Given the description of an element on the screen output the (x, y) to click on. 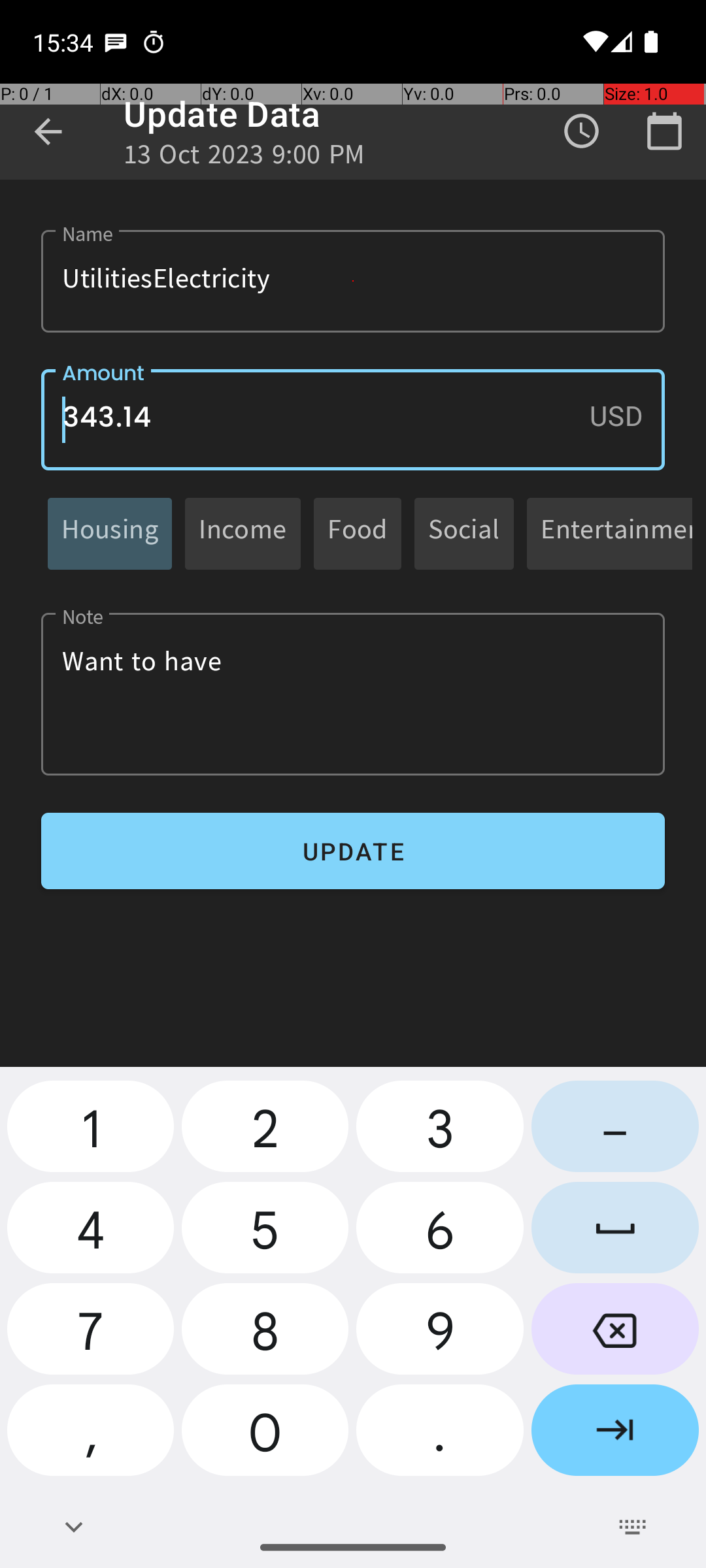
13 Oct 2023 9:00 PM Element type: android.widget.TextView (244, 157)
UtilitiesElectricity Element type: android.widget.EditText (352, 280)
343.14 Element type: android.widget.EditText (352, 419)
SMS Messenger notification: Emily Ibrahim Element type: android.widget.ImageView (115, 41)
